Given the description of an element on the screen output the (x, y) to click on. 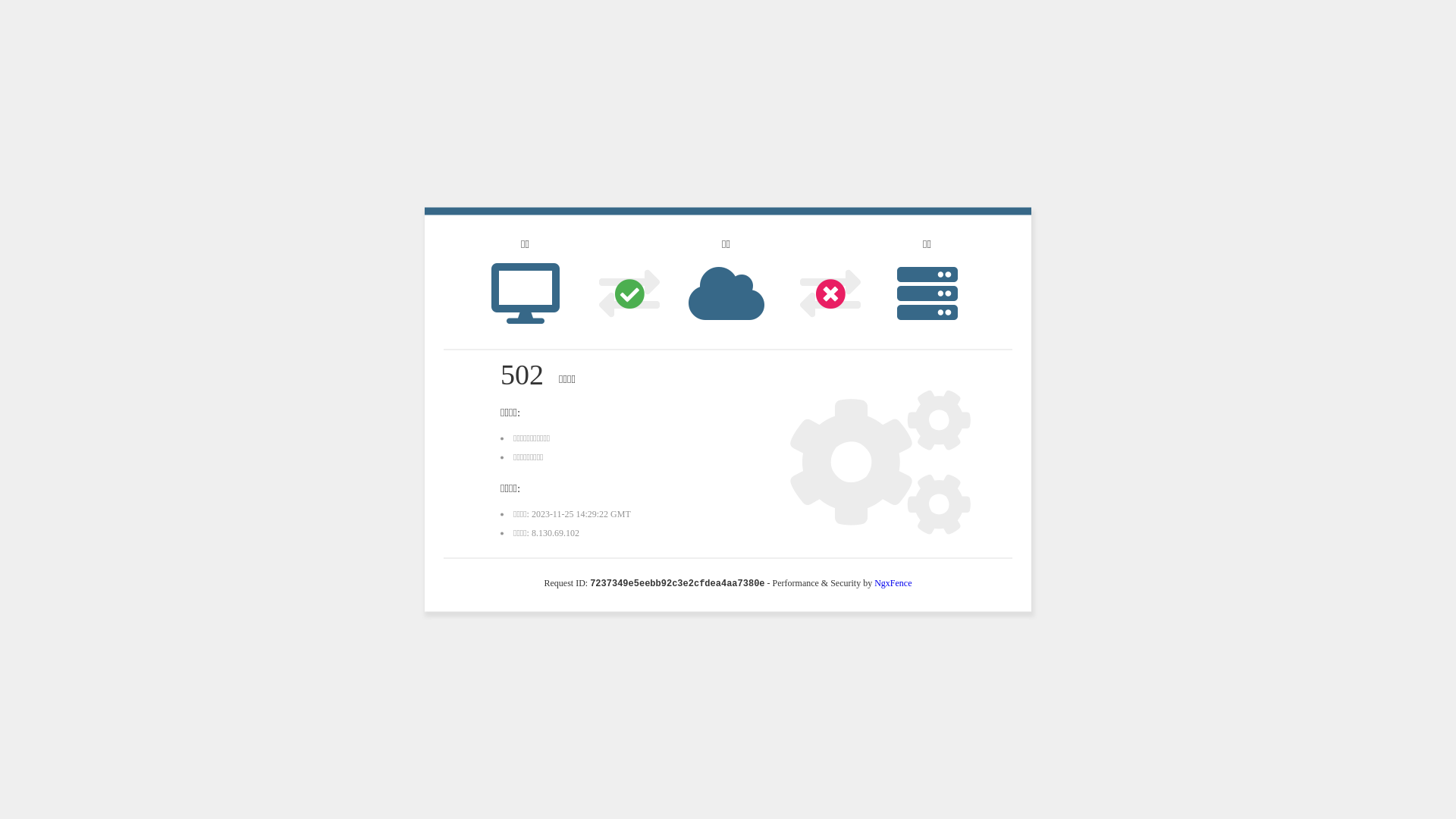
NgxFence Element type: text (892, 582)
